Given the description of an element on the screen output the (x, y) to click on. 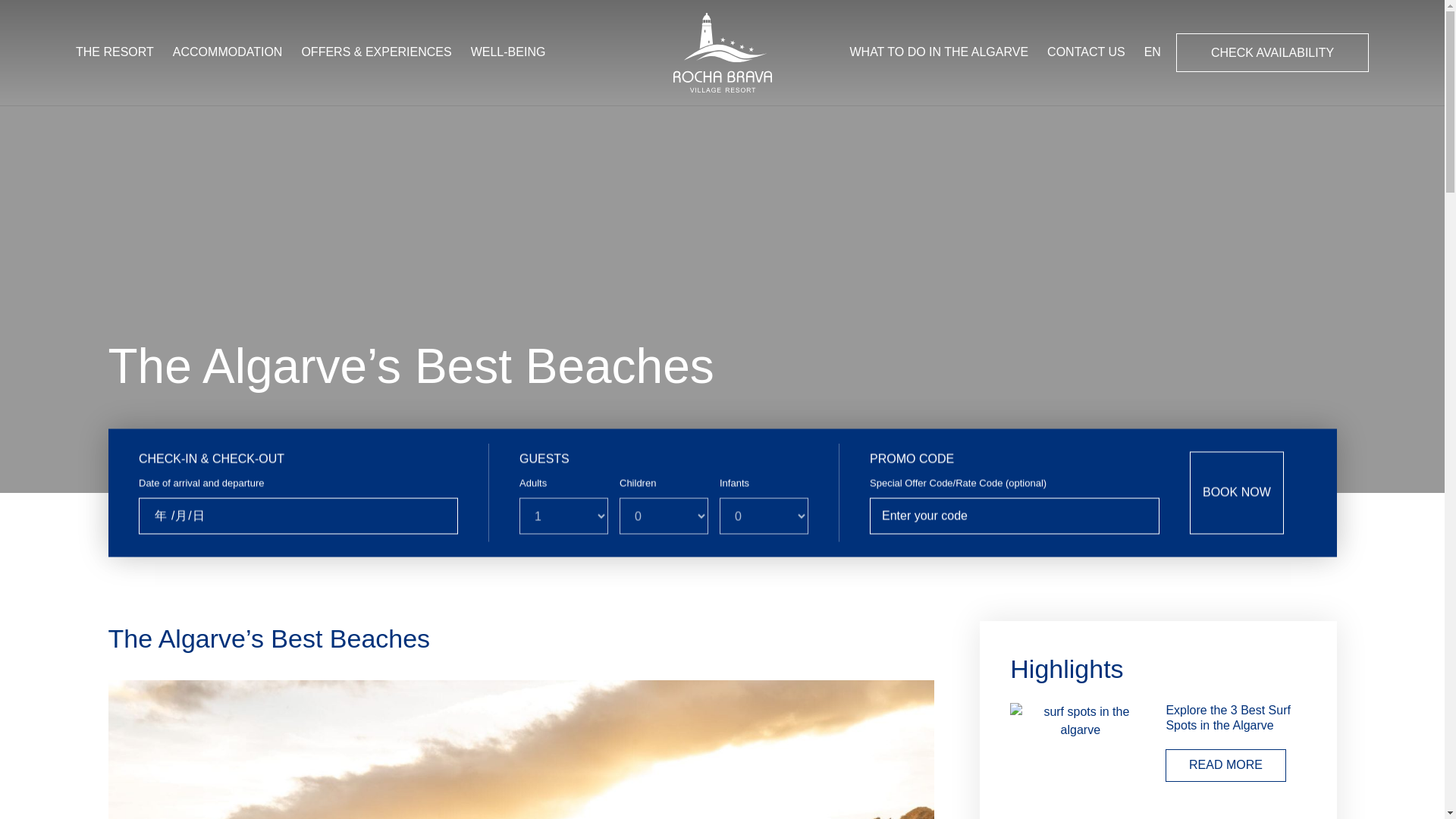
Book Now (1235, 492)
CHECK AVAILABILITY (1272, 52)
THE RESORT (114, 52)
WHAT TO DO IN THE ALGARVE (937, 52)
ACCOMMODATION (227, 52)
READ MORE (1225, 765)
WELL-BEING (508, 52)
Explore the 3 Best Surf Spots in the Algarve (1228, 717)
CONTACT US (1085, 52)
Book Now (1235, 492)
